Given the description of an element on the screen output the (x, y) to click on. 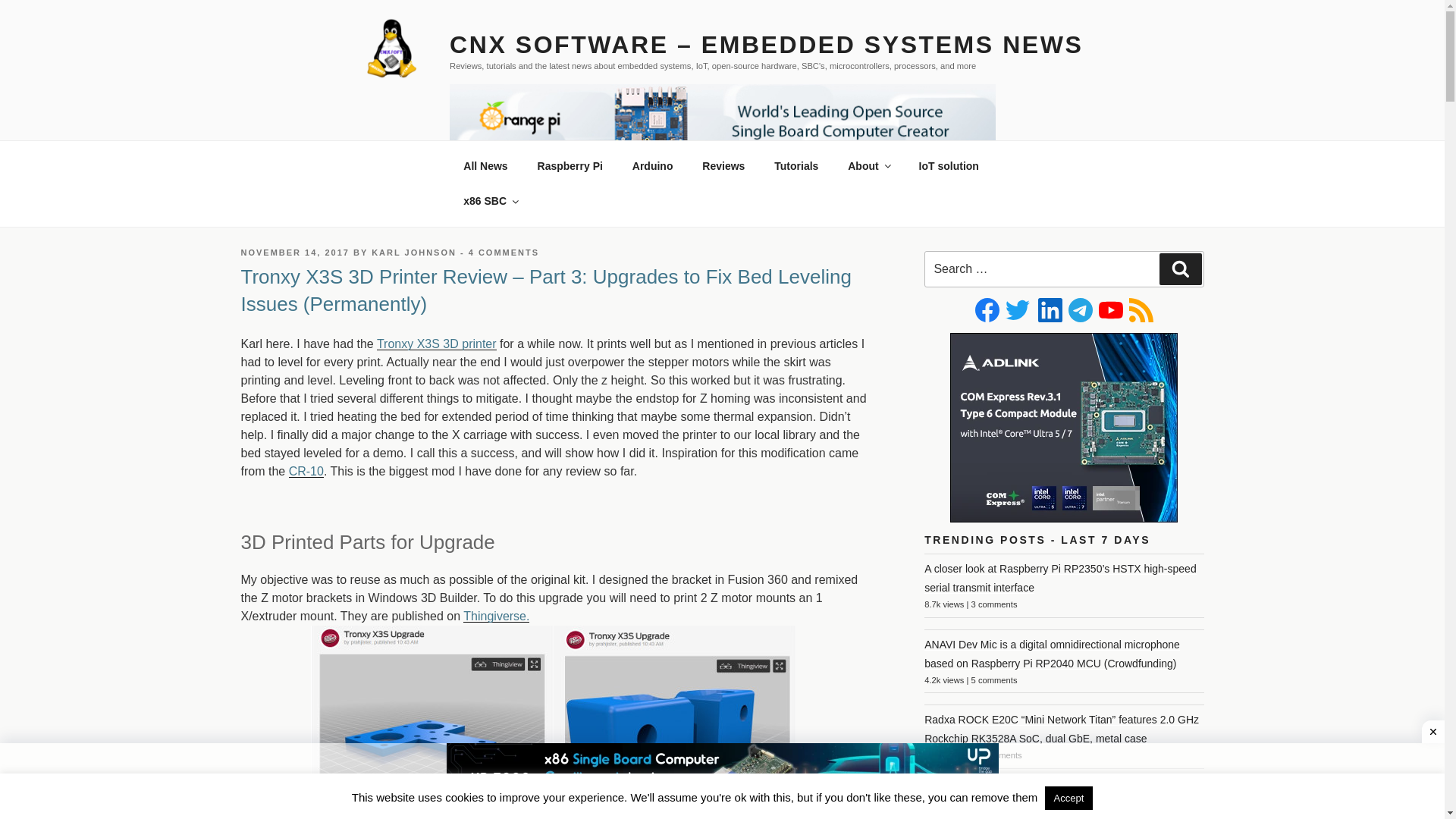
Thingiverse. (554, 714)
Purchase x86 SBCs from our sponsor (490, 200)
KARL JOHNSON (414, 252)
All News (485, 165)
About (868, 165)
Raspberry Pi (569, 165)
Arduino (651, 165)
Reviews (723, 165)
IoT solution (948, 165)
